Given the description of an element on the screen output the (x, y) to click on. 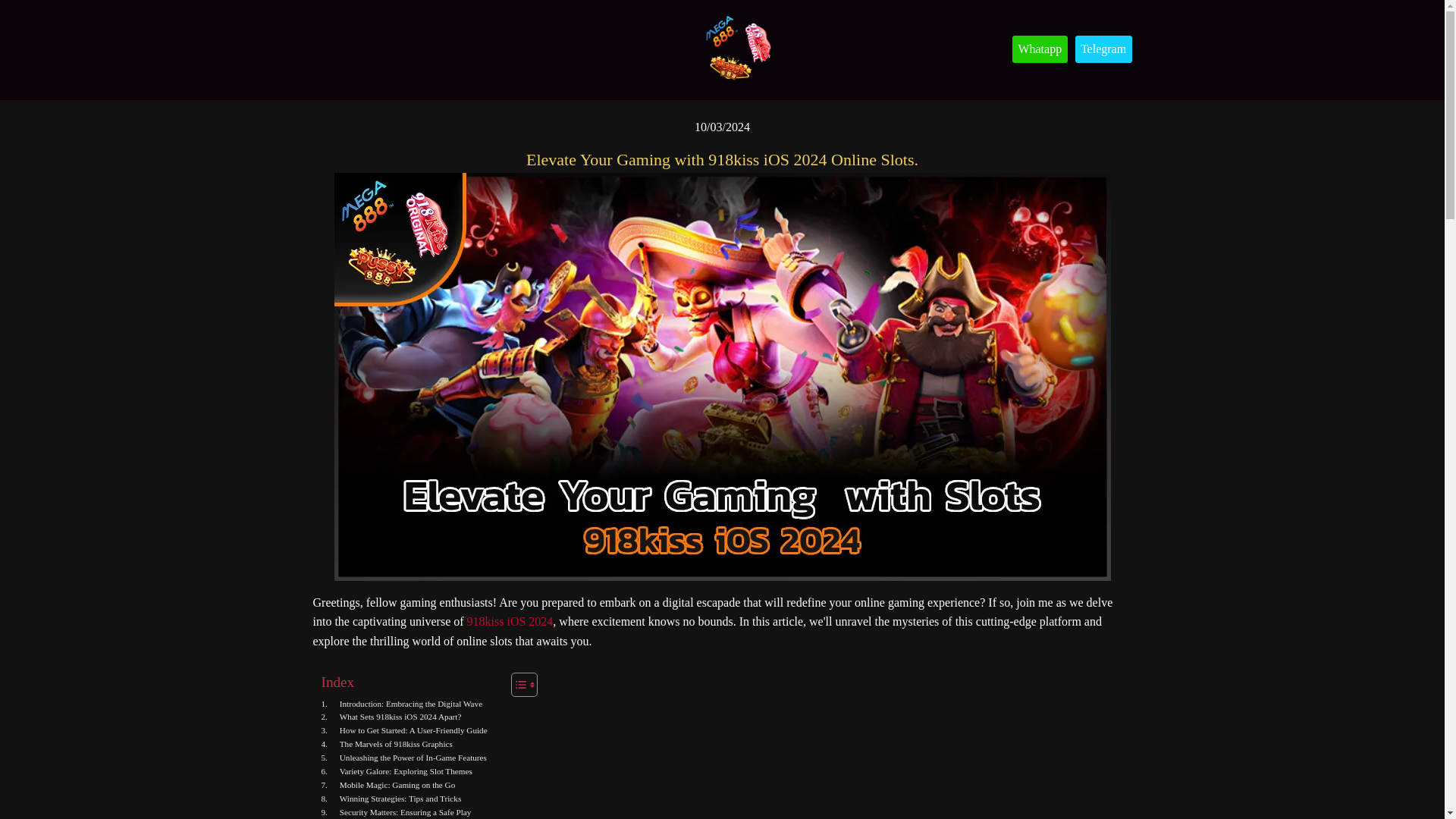
How to Get Started: A User-Friendly Guide (404, 730)
Security Matters: Ensuring a Safe Play (396, 812)
The Marvels of 918kiss Graphics (386, 744)
Winning Strategies: Tips and Tricks (391, 798)
Whatapp (1039, 49)
Winning Strategies: Tips and Tricks (391, 798)
Introduction: Embracing the Digital Wave (402, 704)
918kiss iOS 2024 (510, 621)
What Sets 918kiss iOS 2024 Apart? (391, 716)
Unleashing the Power of In-Game Features (403, 757)
Mobile Magic: Gaming on the Go (388, 785)
Unleashing the Power of In-Game Features (403, 757)
How to Get Started: A User-Friendly Guide (404, 730)
Telegram (1103, 49)
Introduction: Embracing the Digital Wave (402, 704)
